Given the description of an element on the screen output the (x, y) to click on. 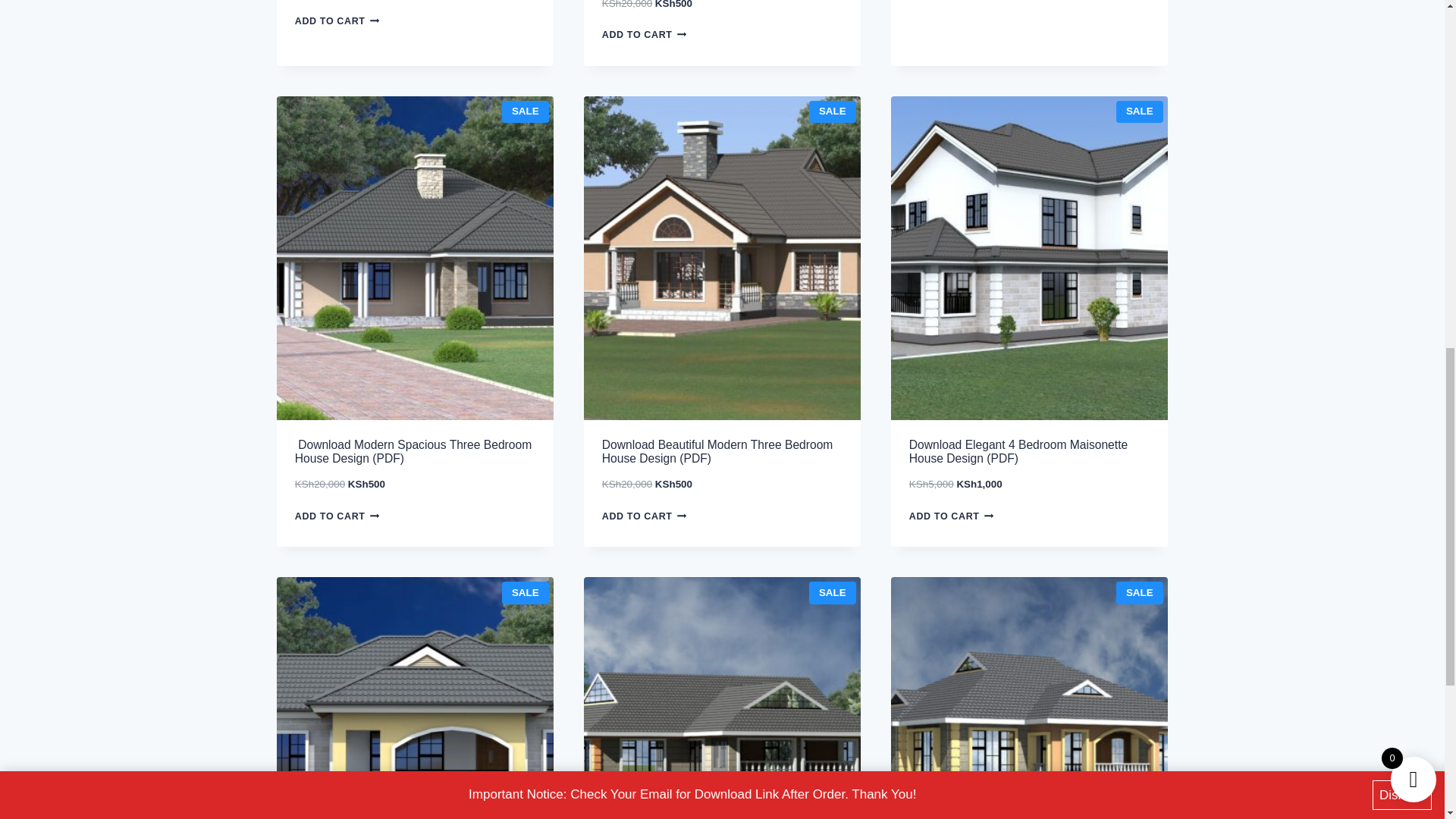
ADD TO CART (341, 20)
ADD TO CART (341, 516)
READ MORE (951, 2)
ADD TO CART (648, 34)
Low Budget Modern 3 Bedroom House Design (414, 698)
3 Bedroom Bungalow Designs (1029, 698)
ADD TO CART (955, 516)
ADD TO CART (648, 516)
